Given the description of an element on the screen output the (x, y) to click on. 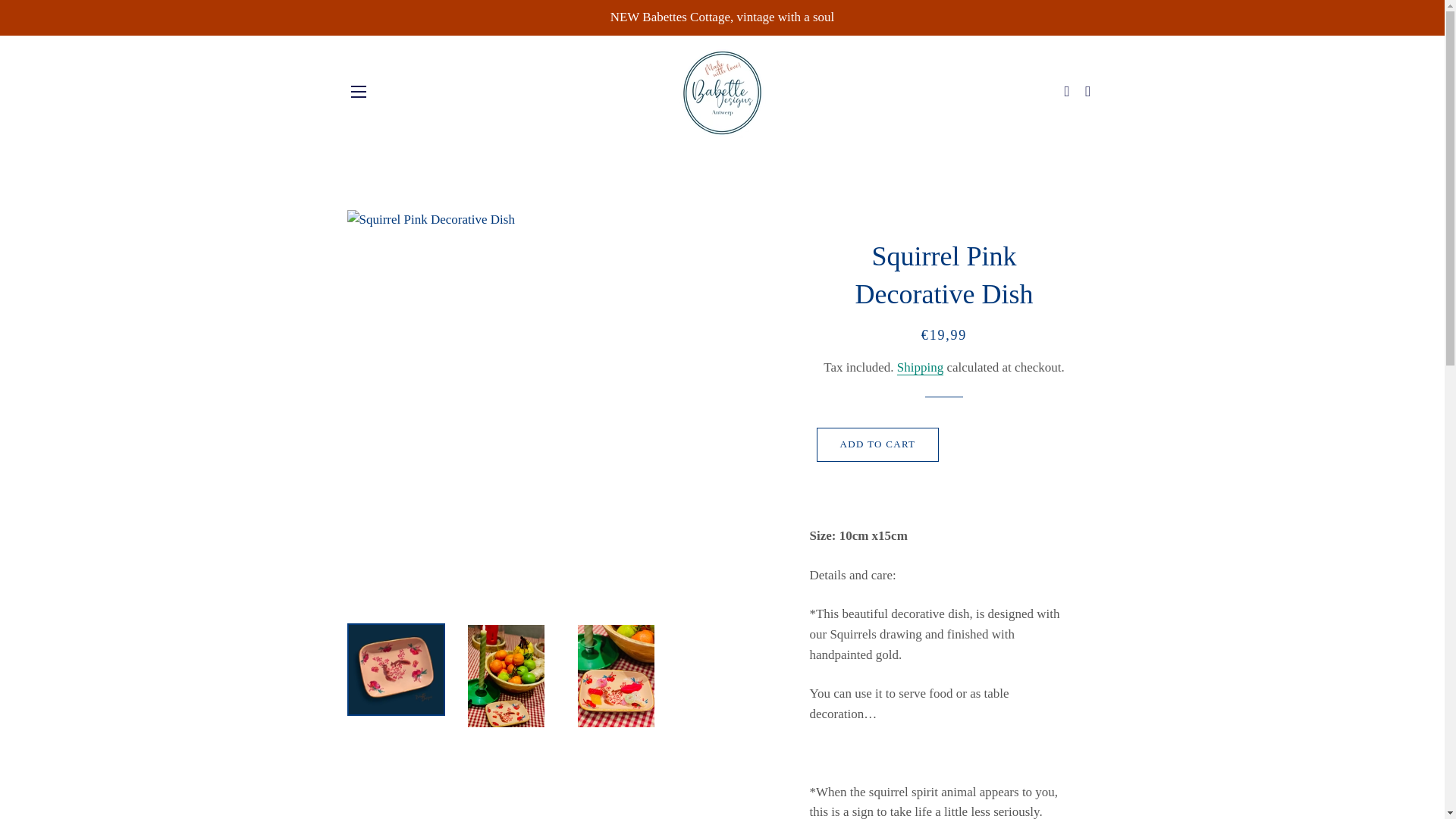
SITE NAVIGATION (358, 91)
Shipping (919, 367)
ADD TO CART (877, 444)
